Given the description of an element on the screen output the (x, y) to click on. 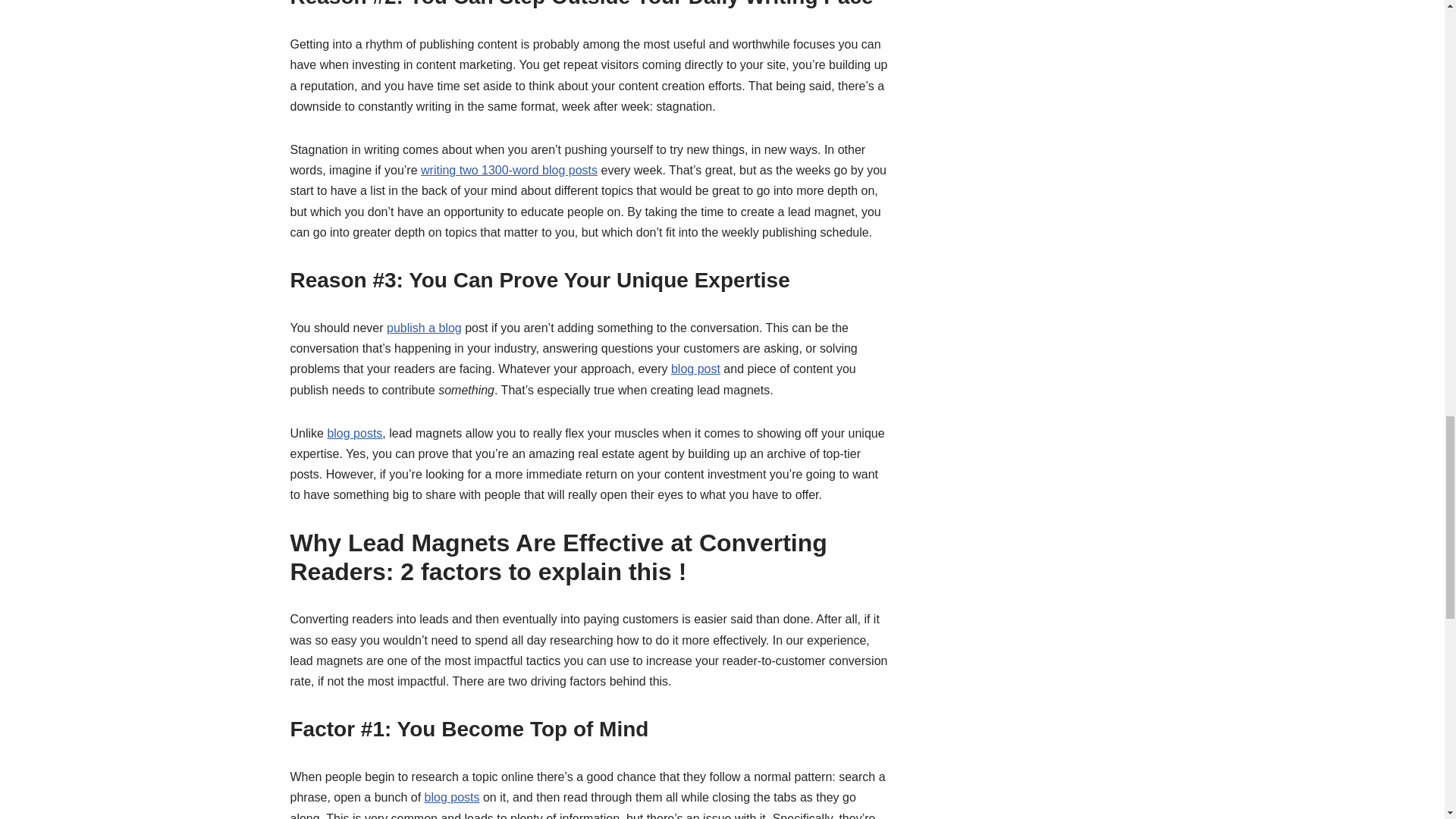
blog posts (353, 432)
blog post (695, 368)
publish a blog (424, 327)
blog posts (452, 797)
writing two 1300-word blog posts (508, 169)
